Given the description of an element on the screen output the (x, y) to click on. 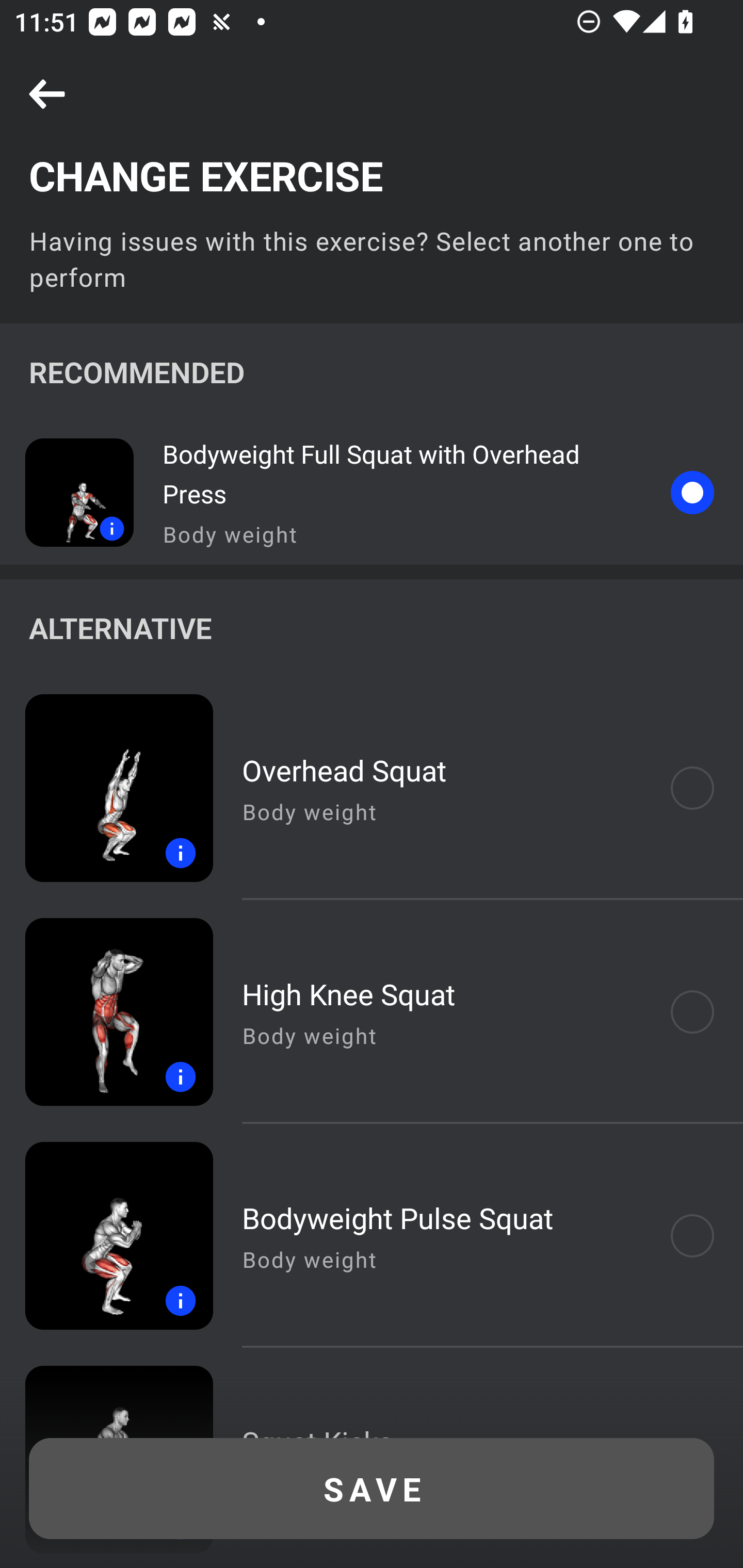
Navigation icon (46, 94)
details (66, 492)
details Overhead Squat Body weight (371, 787)
details (106, 787)
details High Knee Squat Body weight (371, 1012)
details (106, 1012)
details Bodyweight Pulse Squat Body weight (371, 1236)
details (106, 1236)
SAVE (371, 1488)
